Given the description of an element on the screen output the (x, y) to click on. 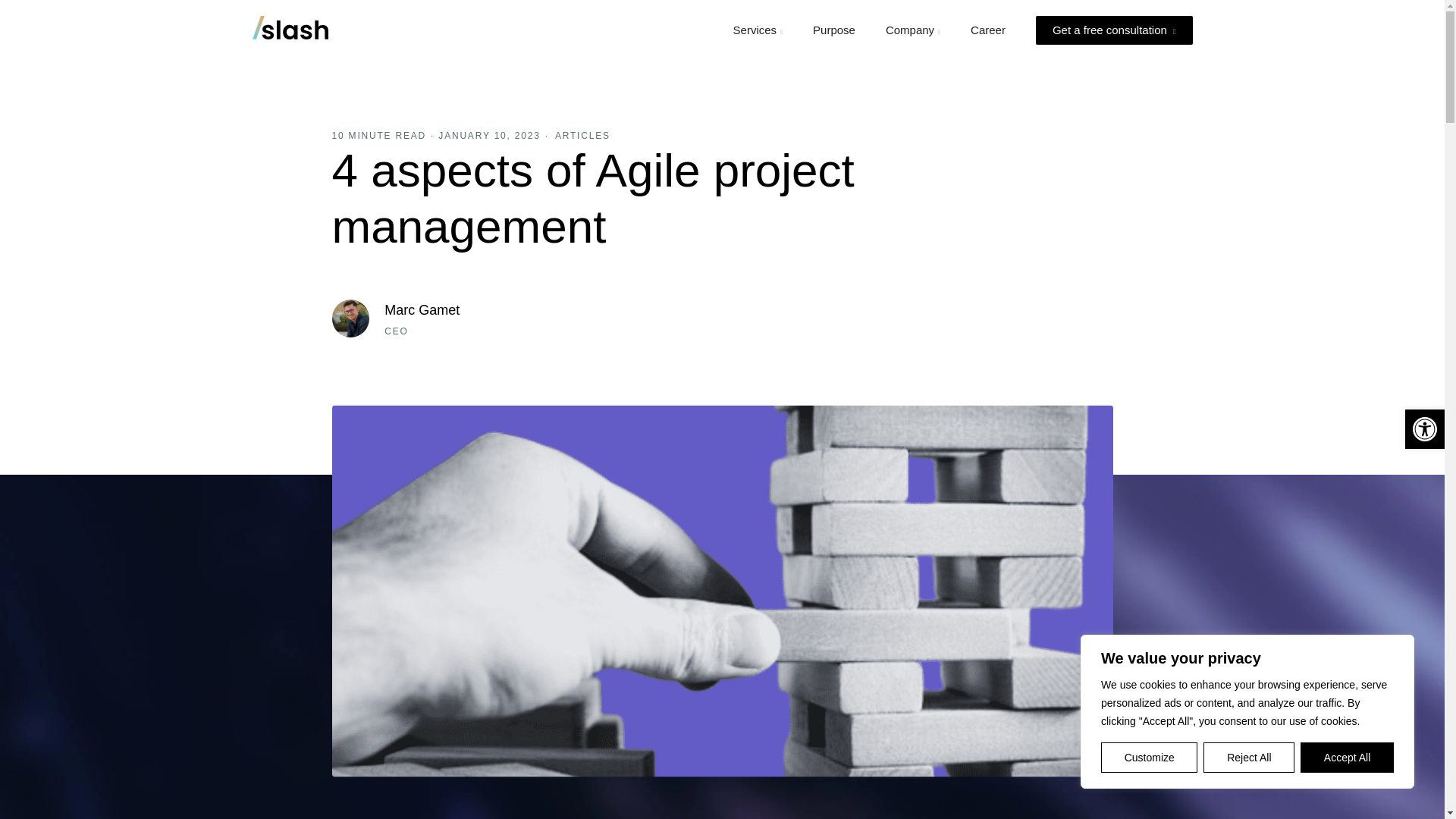
Services (755, 30)
Reject All (1249, 757)
Accept All (1346, 757)
Accessibility Tools (1424, 428)
Customize (1148, 757)
